Given the description of an element on the screen output the (x, y) to click on. 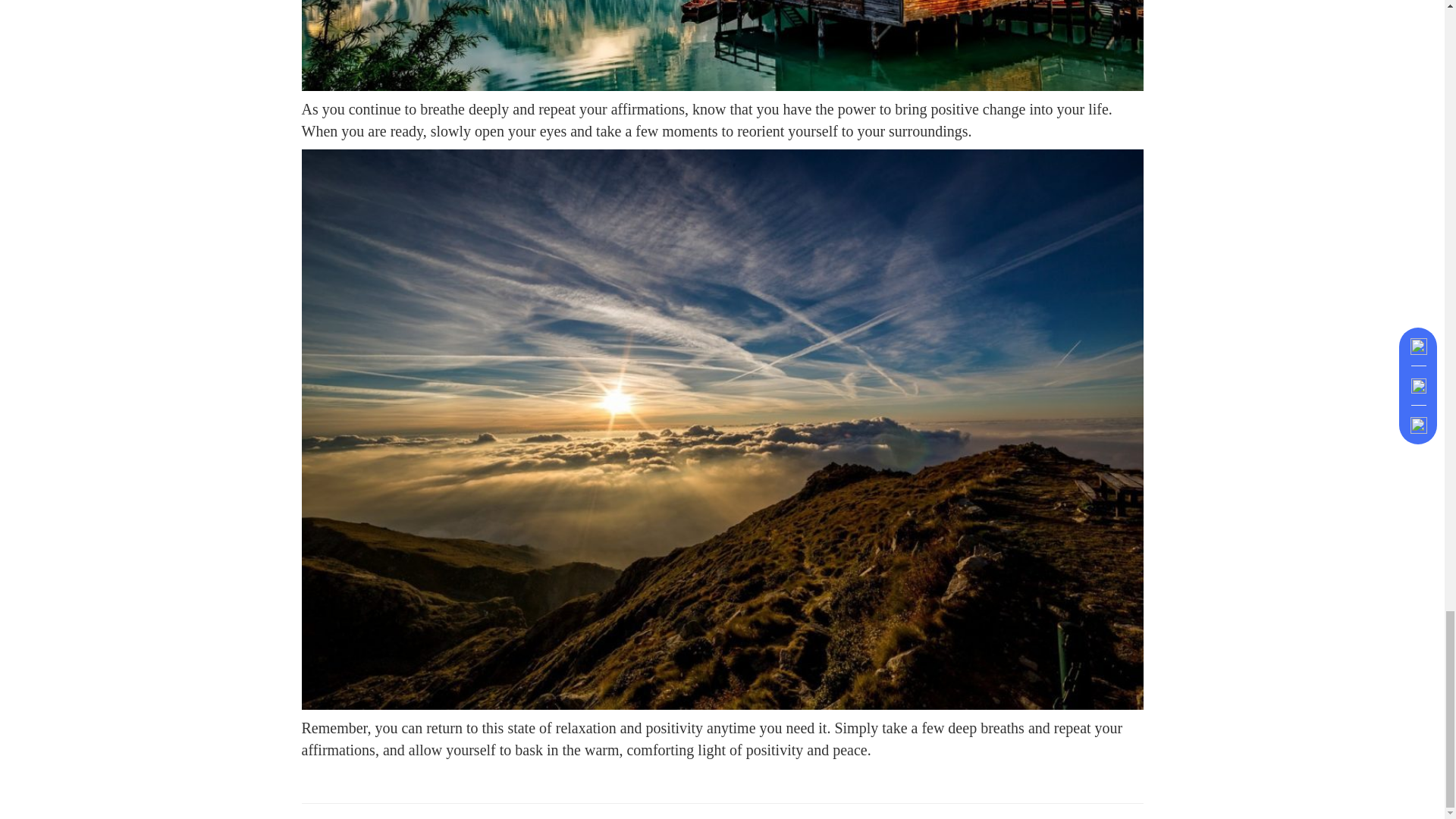
comforting light of positivity and peace. (746, 750)
